Given the description of an element on the screen output the (x, y) to click on. 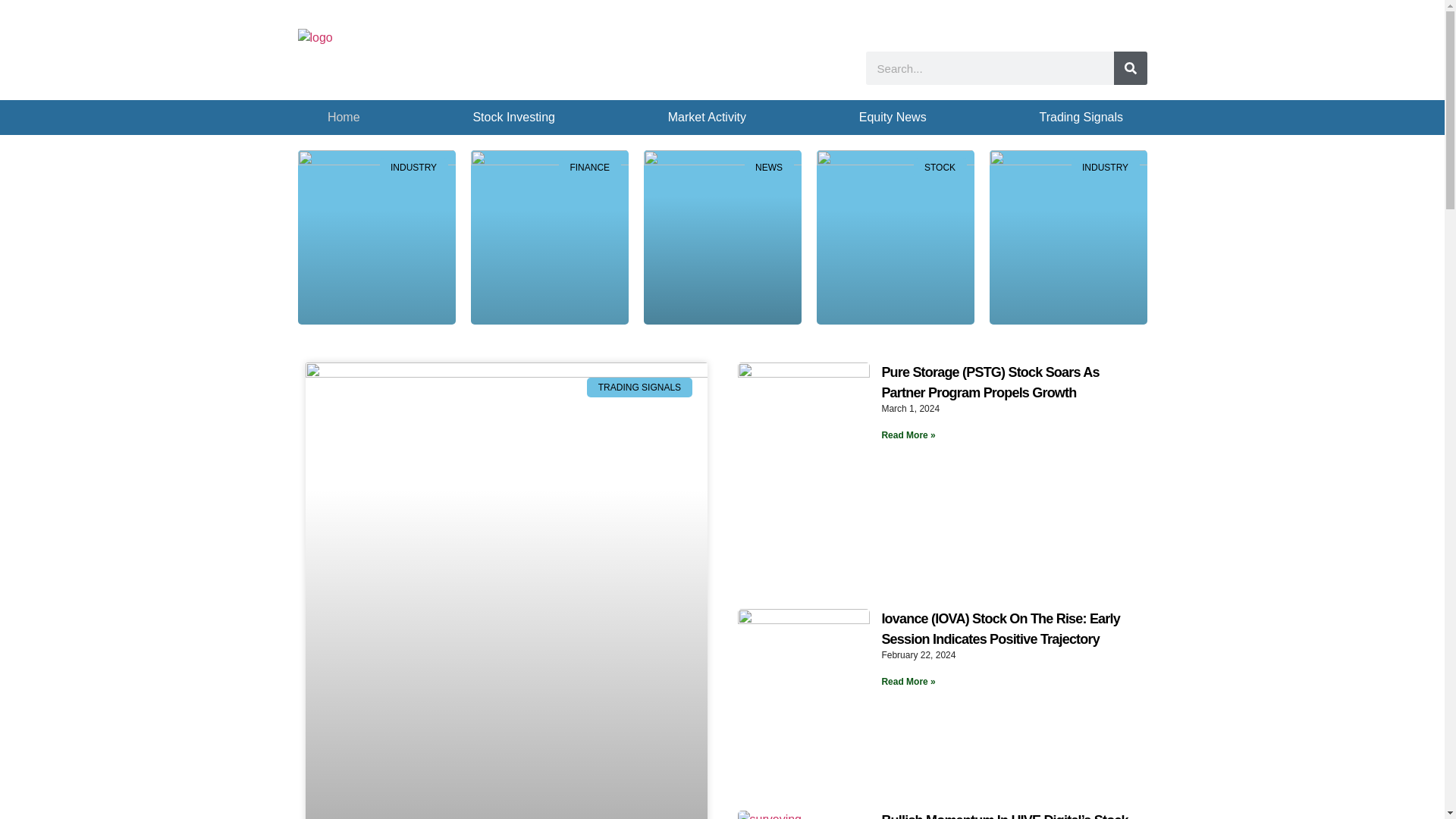
Stock Investing (513, 117)
Home (343, 117)
Equity News (892, 117)
Market Activity (706, 117)
Trading Signals (1080, 117)
